Given the description of an element on the screen output the (x, y) to click on. 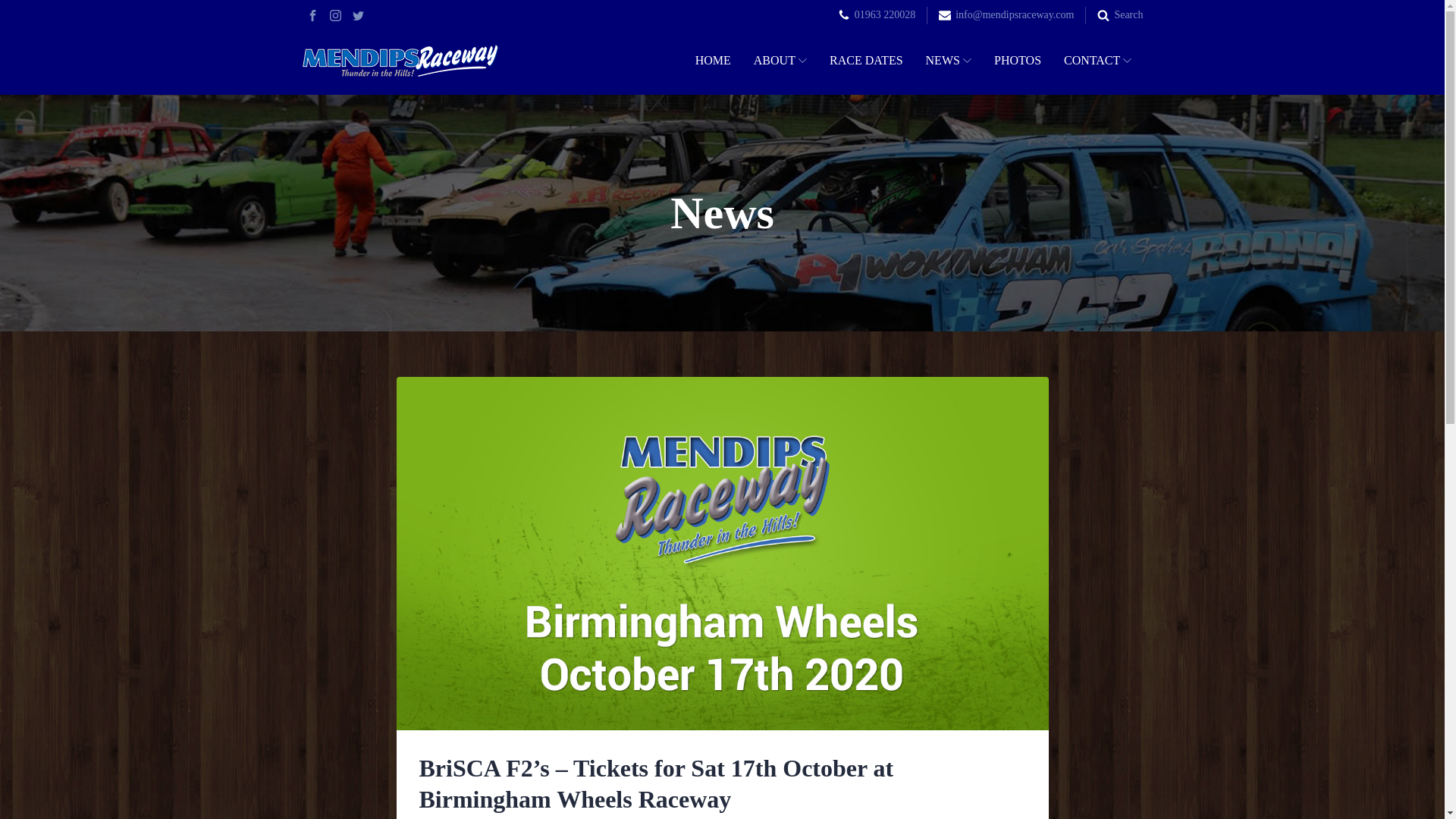
Search (1127, 14)
CONTACT (1097, 60)
RACE DATES (866, 60)
ABOUT (780, 60)
NEWS (949, 60)
PHOTOS (1017, 60)
01963 220028 (884, 14)
